Given the description of an element on the screen output the (x, y) to click on. 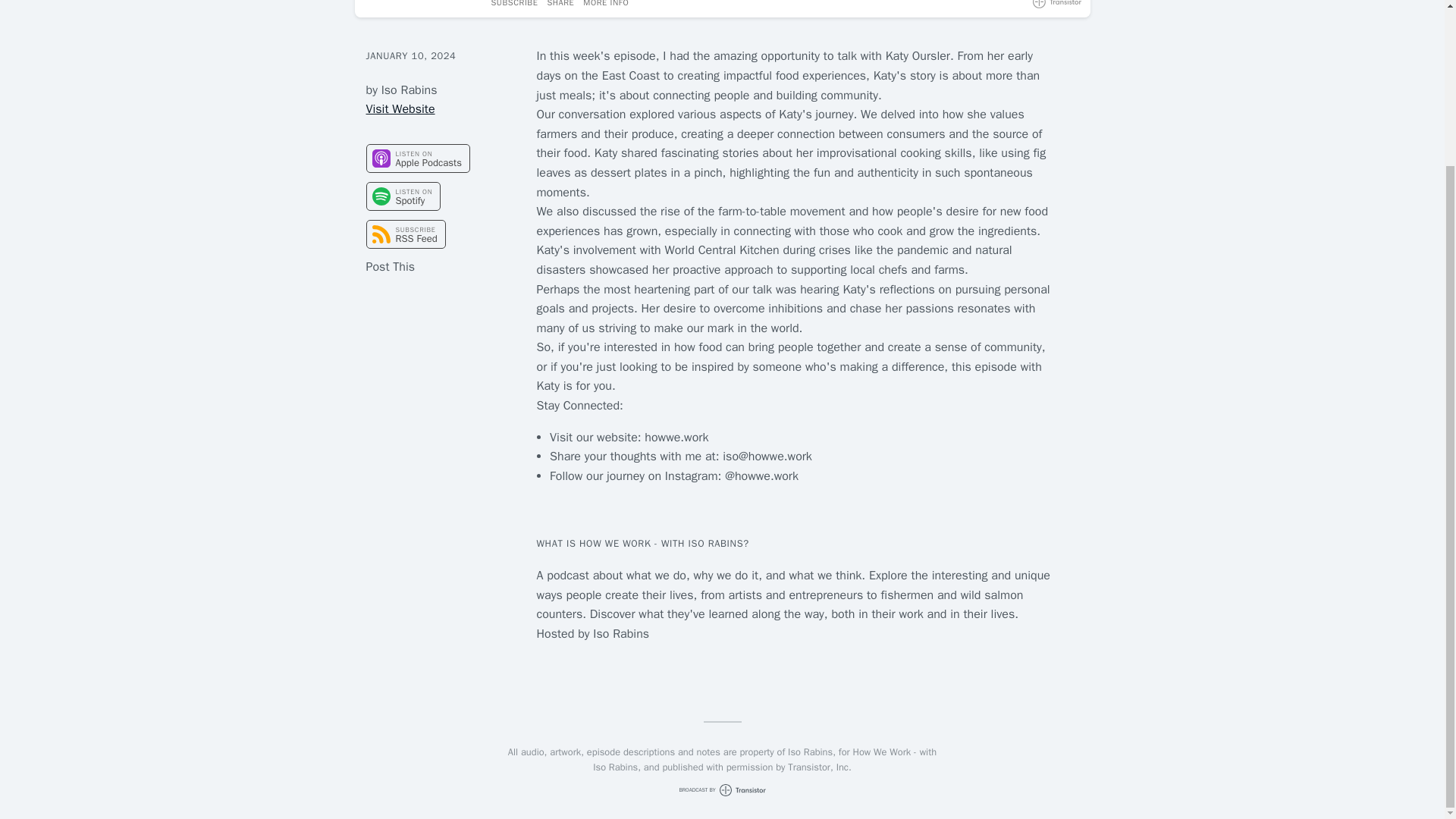
SUBSCRIBE (515, 4)
Visit Transistor.fm - Podcast Hosting and Analytics (1056, 4)
Show subscribe options (515, 4)
Show sharing options (560, 4)
Show episode details (605, 4)
SHARE (560, 4)
MORE INFO (605, 4)
